Given the description of an element on the screen output the (x, y) to click on. 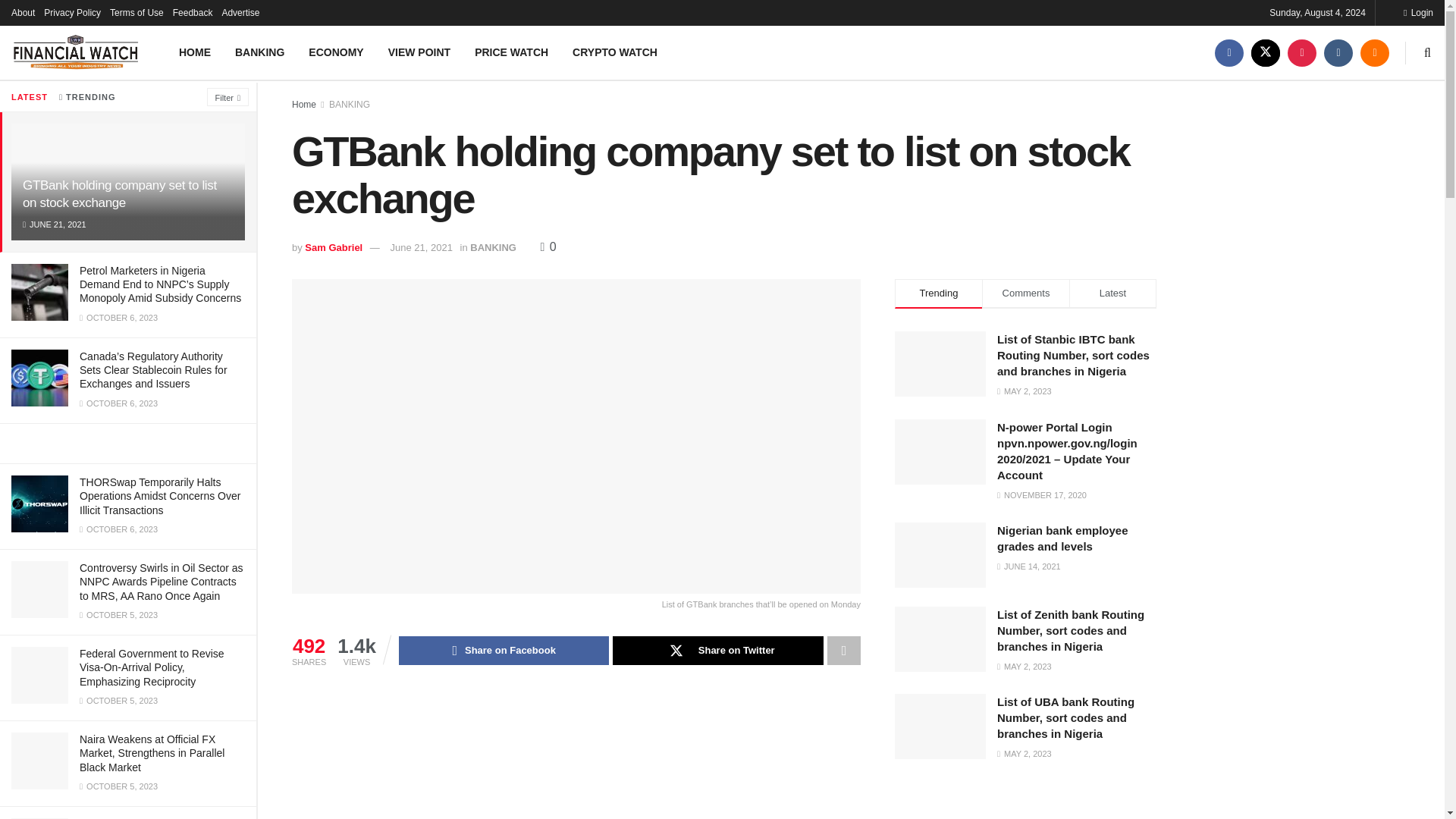
Advertisement (1024, 806)
Advertisement (576, 755)
GTBank holding company set to list on stock exchange (119, 193)
Filter (227, 96)
